Given the description of an element on the screen output the (x, y) to click on. 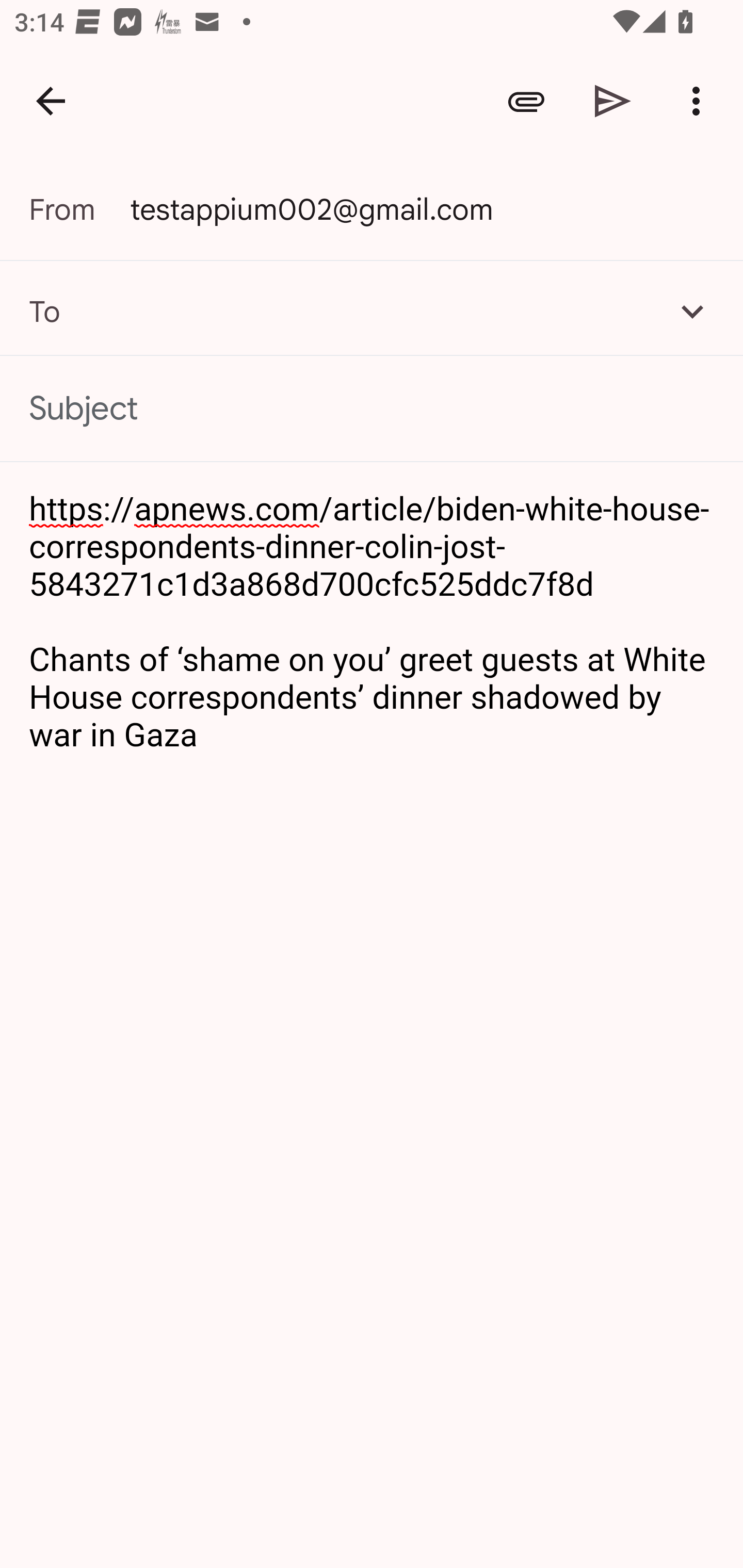
Navigate up (50, 101)
Attach file (525, 101)
Send (612, 101)
More options (699, 101)
From (79, 209)
Add Cc/Bcc (692, 311)
Subject (371, 407)
